Given the description of an element on the screen output the (x, y) to click on. 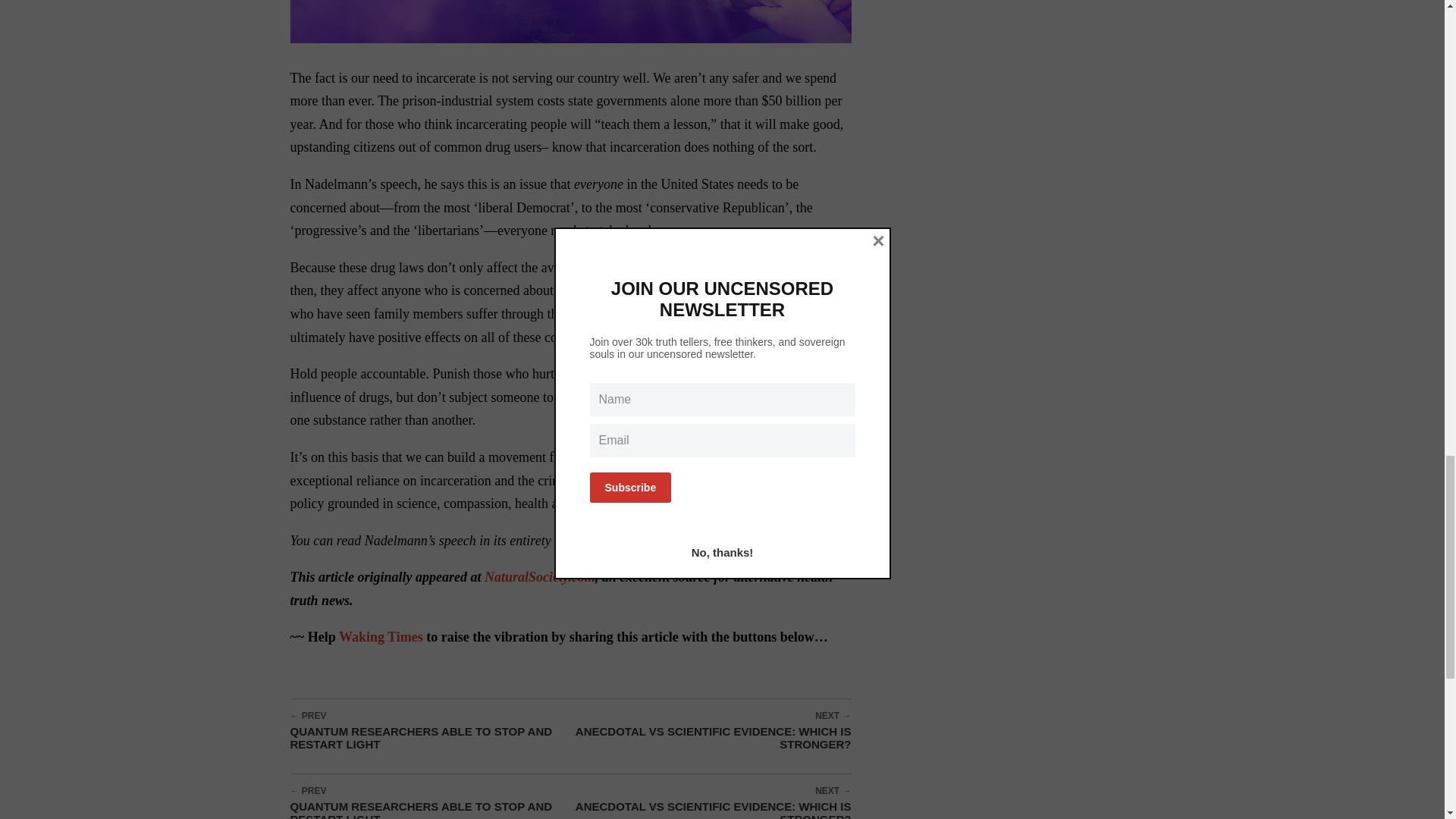
on AlterNet. (614, 540)
Waking Times (381, 636)
NaturalSociety.com (539, 576)
